Given the description of an element on the screen output the (x, y) to click on. 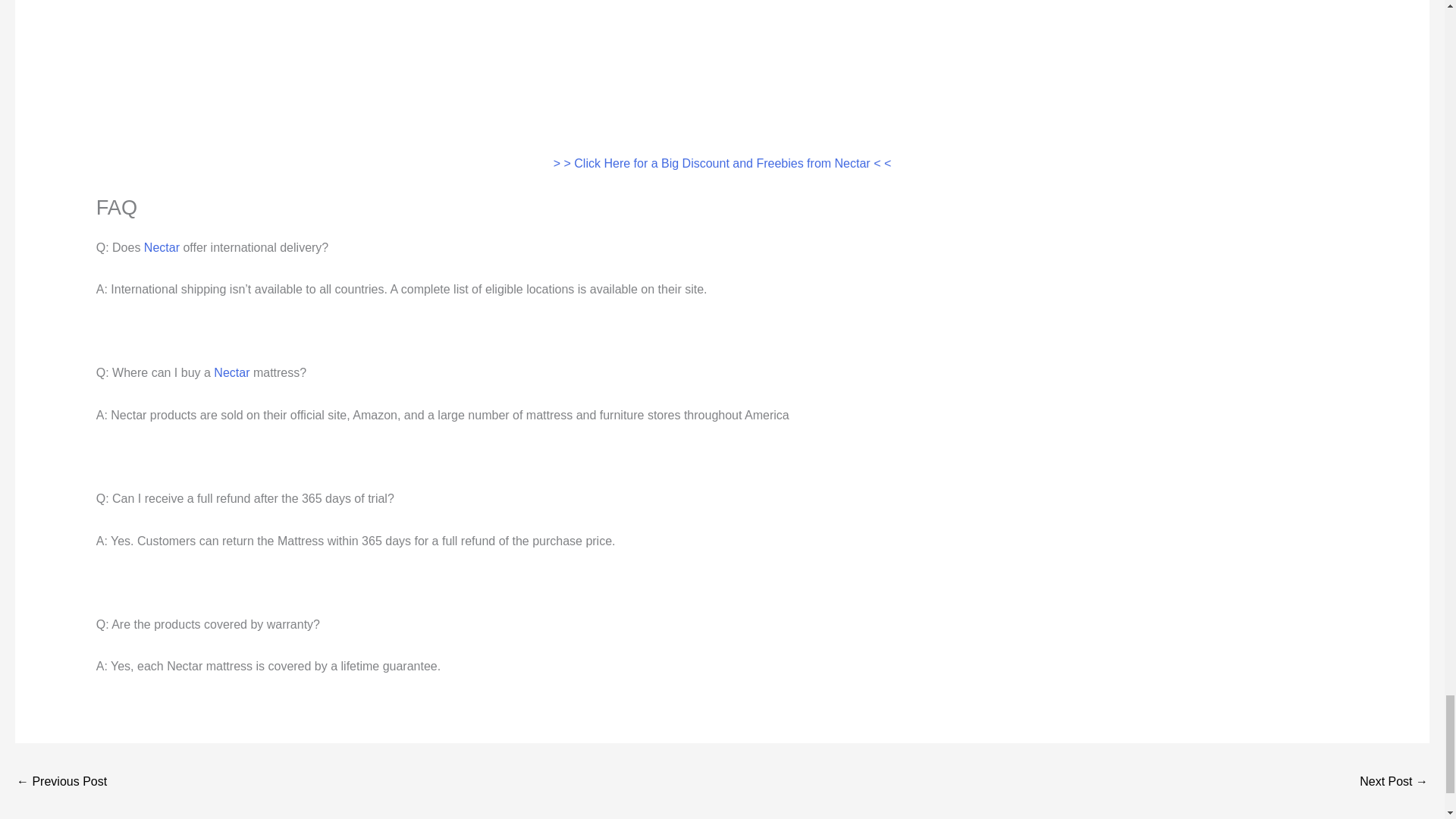
Nectar (231, 372)
Nectar (161, 246)
King Size Bed In A Box Nectar (61, 782)
Nectar Mattress Did Not (1393, 782)
